Given the description of an element on the screen output the (x, y) to click on. 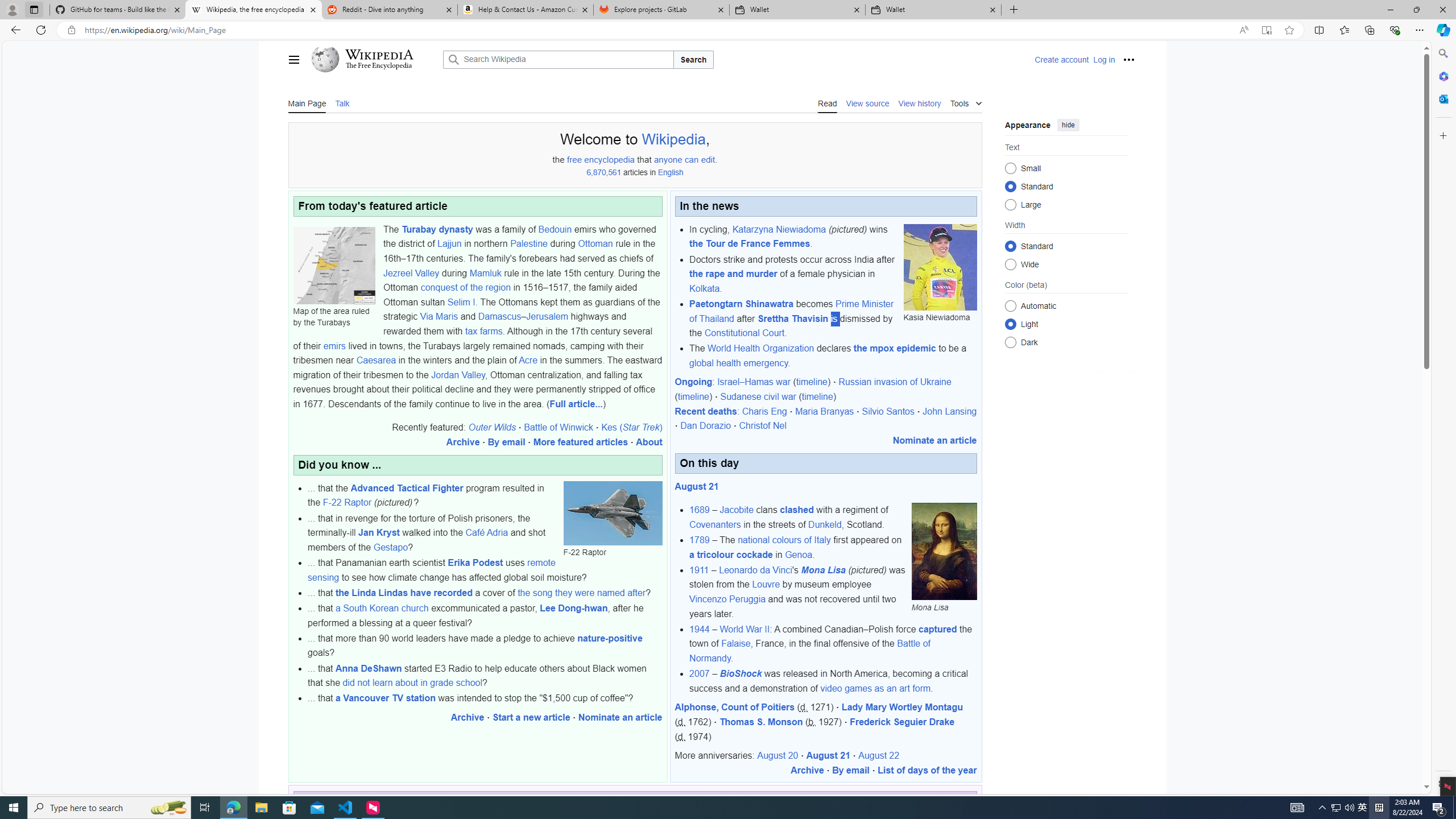
the Linda Lindas have recorded (403, 592)
Read (827, 102)
Kasia Niewiadoma (939, 266)
Log in (1104, 58)
1911 (698, 569)
Sudanese civil war (758, 396)
1789 (699, 539)
List of days of the year (926, 769)
F-22 Raptor (346, 502)
About (649, 442)
